Given the description of an element on the screen output the (x, y) to click on. 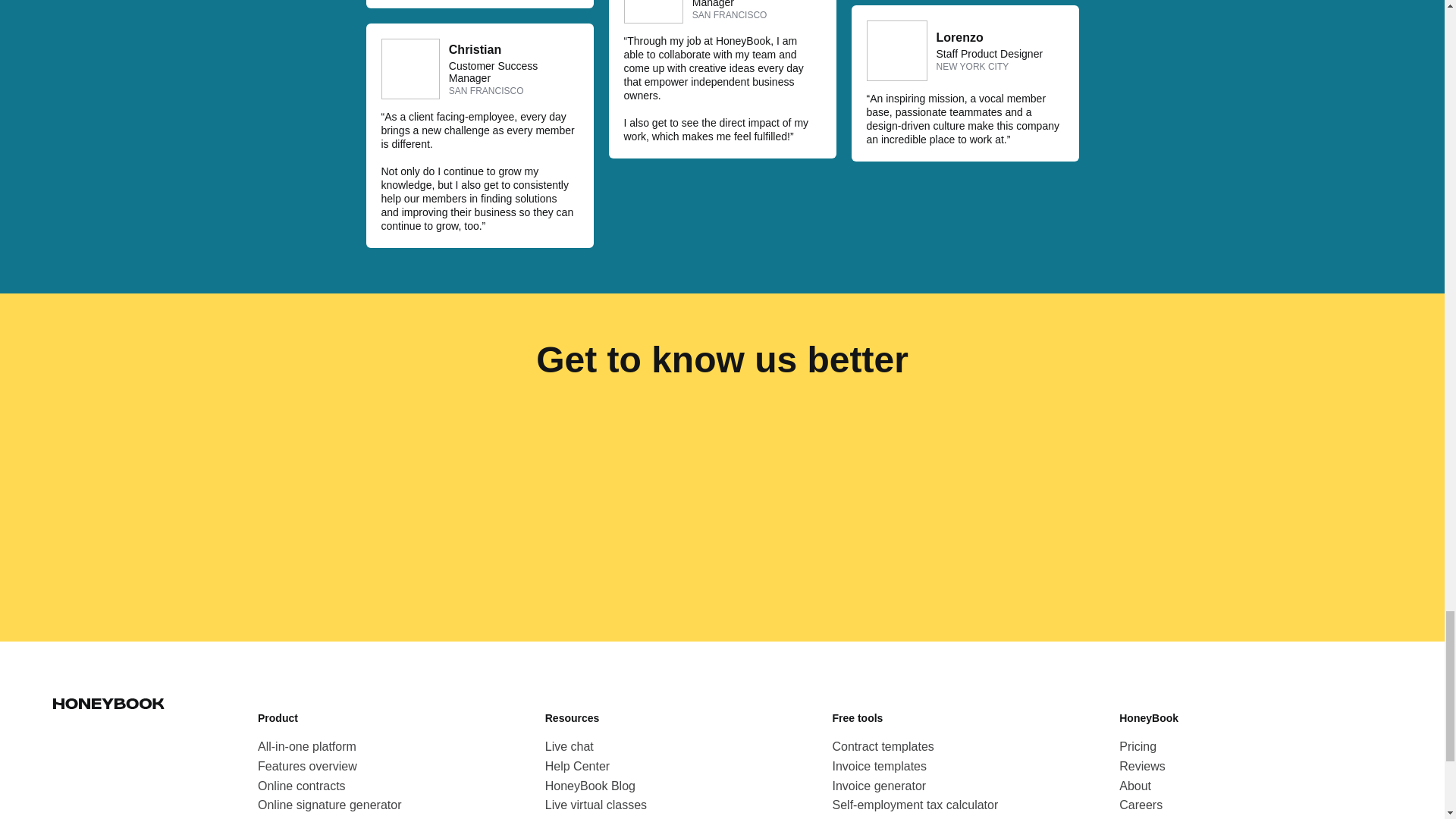
Online contracts (301, 786)
Features overview (306, 766)
Pricing (1137, 746)
Contract templates (883, 746)
HoneyBook business academy (627, 816)
HoneyBook Blog (589, 786)
Self-employment tax calculator (915, 804)
Help Center (577, 766)
Online document signing (324, 816)
Invoice generator (879, 786)
